Given the description of an element on the screen output the (x, y) to click on. 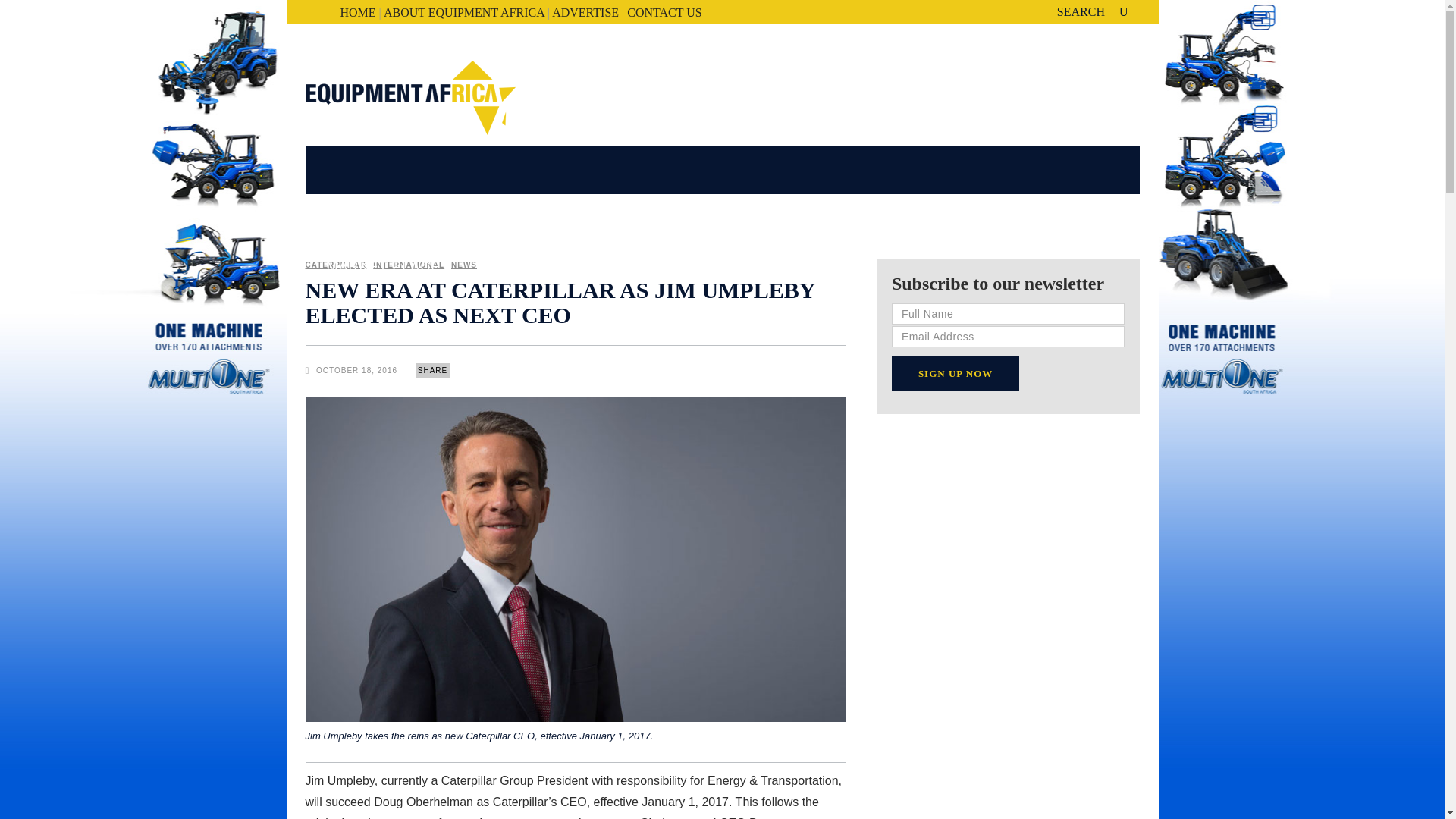
SPECIFICATIONS (390, 218)
HOME (357, 11)
ATTACHMENTS (524, 218)
ADVERTISE (584, 11)
ABOUT EQUIPMENT AFRICA (464, 11)
CONTACT US (664, 11)
Sign up now (955, 373)
Advertisement (1008, 761)
SEARCH (1092, 11)
DEALER ATLAS (653, 218)
